Given the description of an element on the screen output the (x, y) to click on. 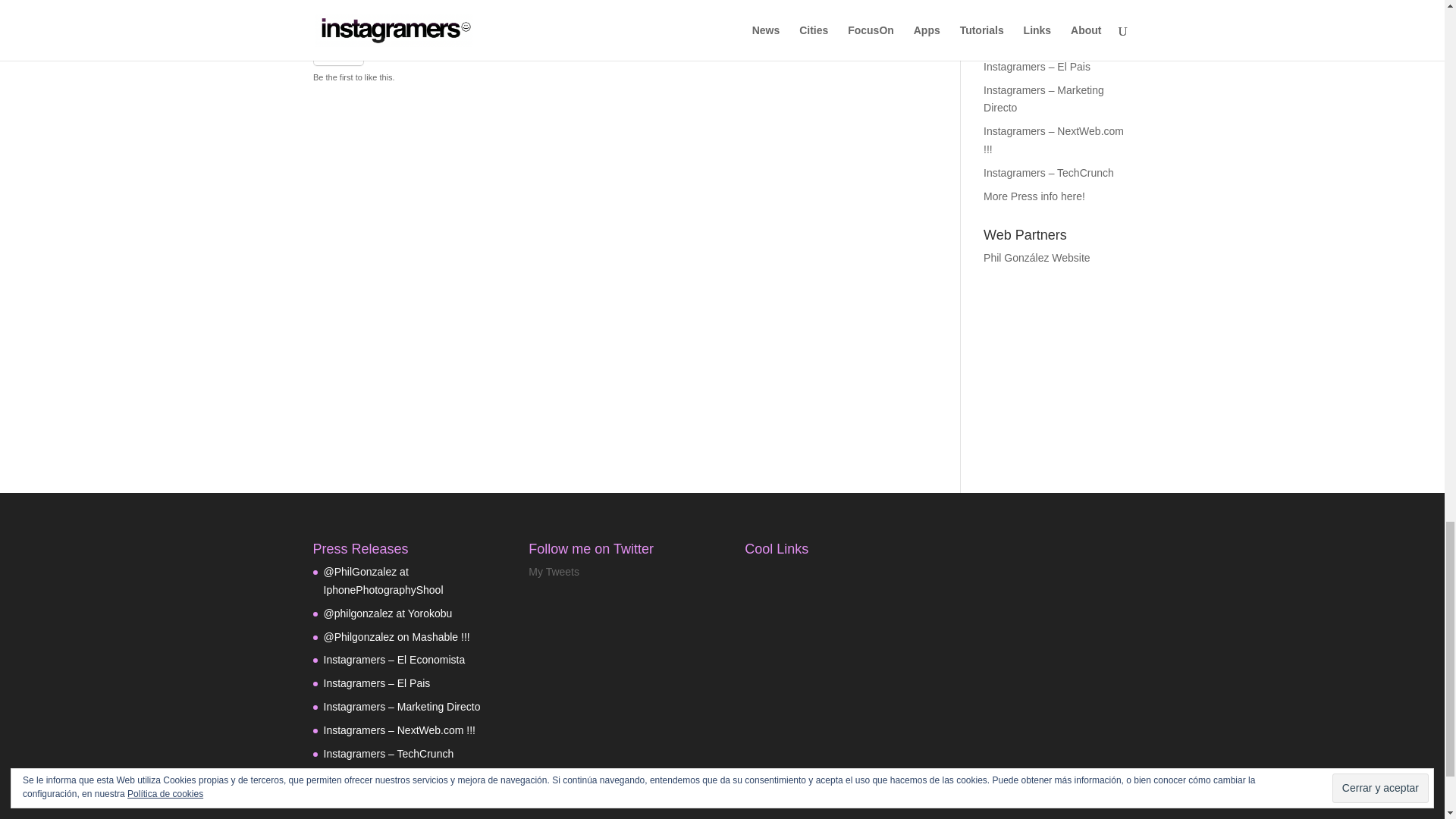
Instagramers en Yorokobu (1048, 1)
Instagramers Marketing directo (1043, 99)
Like or Reblog (614, 62)
Instagramers El Pais (1037, 66)
instagramers en El economista (1054, 42)
